Given the description of an element on the screen output the (x, y) to click on. 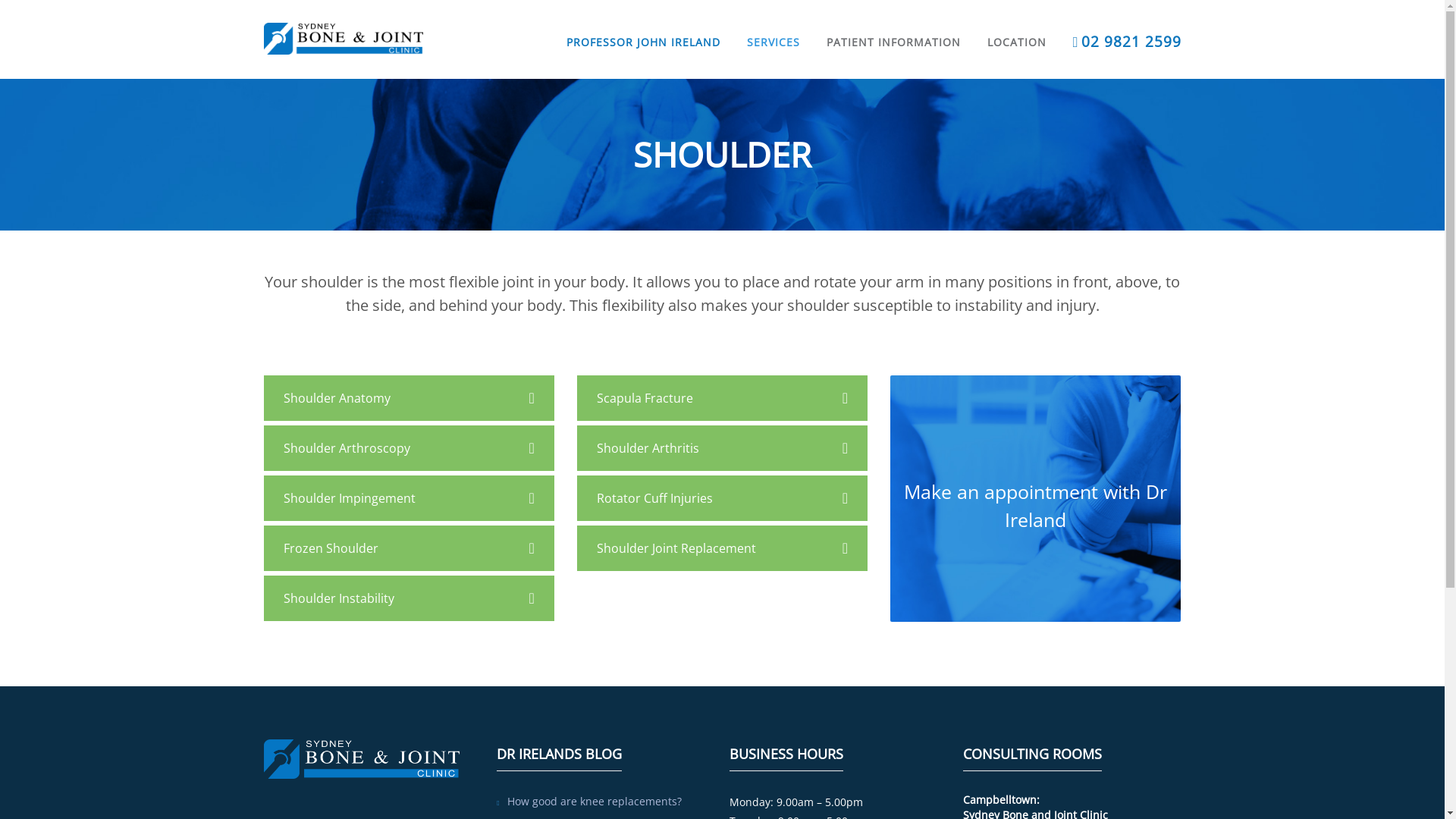
Frozen Shoulder Element type: text (408, 548)
Rotator Cuff Injuries Element type: text (722, 497)
Shoulder Arthritis Element type: text (722, 447)
SERVICES Element type: text (773, 25)
02 9821 2599 Element type: text (1127, 25)
Shoulder Arthroscopy Element type: text (408, 447)
PATIENT INFORMATION Element type: text (893, 25)
Shoulder Anatomy Element type: text (408, 397)
How good are knee replacements? Element type: text (612, 802)
PROFESSOR JOHN IRELAND Element type: text (643, 25)
LOCATION Element type: text (1016, 25)
Shoulder Joint Replacement Element type: text (722, 548)
Scapula Fracture Element type: text (722, 397)
Make an appointment with Dr Ireland Element type: text (1035, 498)
Shoulder Instability Element type: text (408, 598)
Shoulder Impingement Element type: text (408, 497)
